Given the description of an element on the screen output the (x, y) to click on. 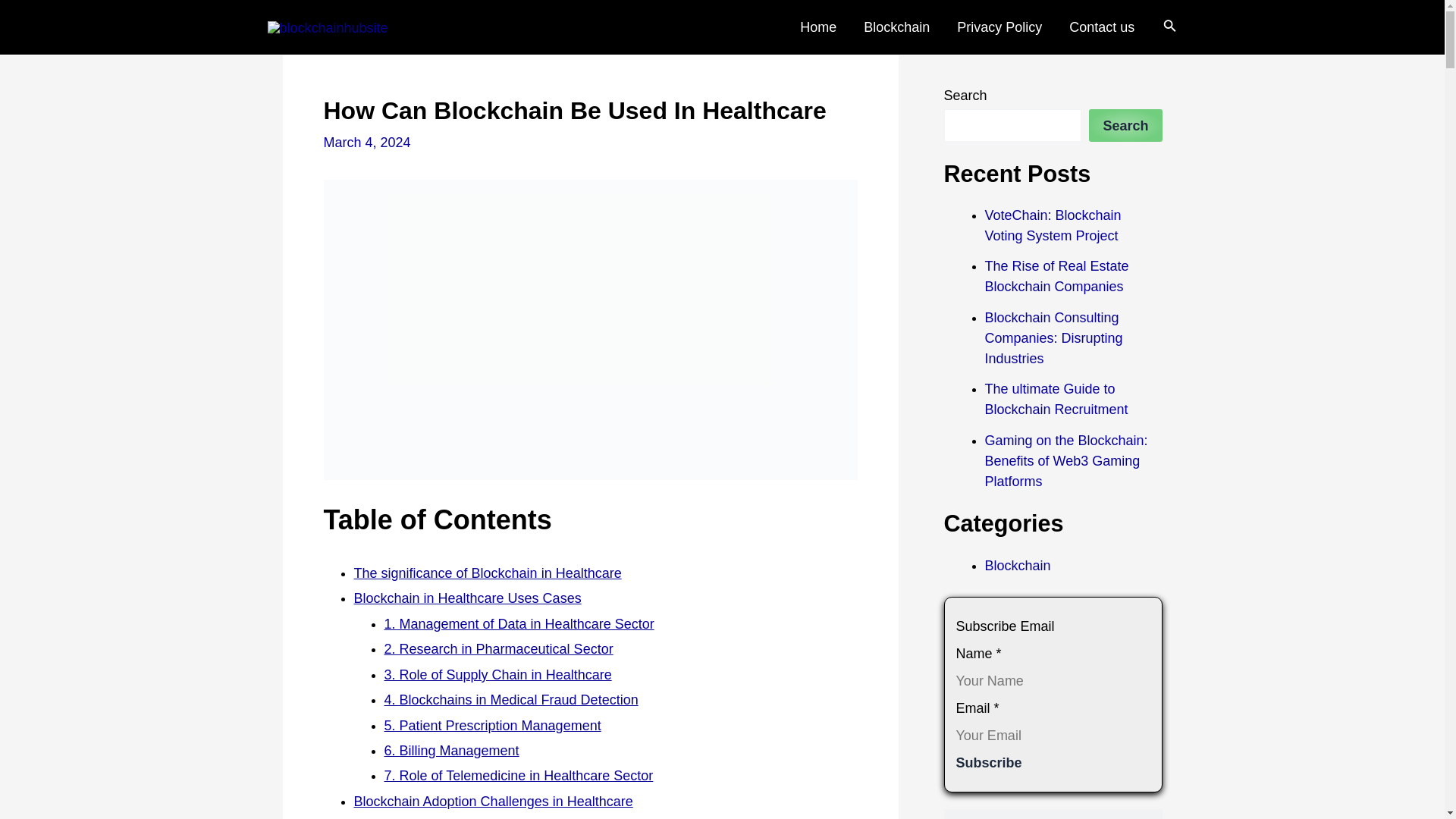
4. Blockchains in Medical Fraud Detection (510, 699)
Blockchain in Healthcare Uses Cases (466, 598)
5. Patient Prescription Management (491, 725)
1. Management of Data in Healthcare Sector (518, 623)
Home (818, 27)
Blockchain Adoption Challenges in Healthcare (492, 801)
Privacy Policy (999, 27)
Contact us (1101, 27)
6. Billing Management (451, 750)
3. Role of Supply Chain in Healthcare (497, 674)
The significance of Blockchain in Healthcare (487, 572)
7. Role of Telemedicine in Healthcare Sector (518, 775)
2. Research in Pharmaceutical Sector (498, 648)
Blockchain (896, 27)
